Given the description of an element on the screen output the (x, y) to click on. 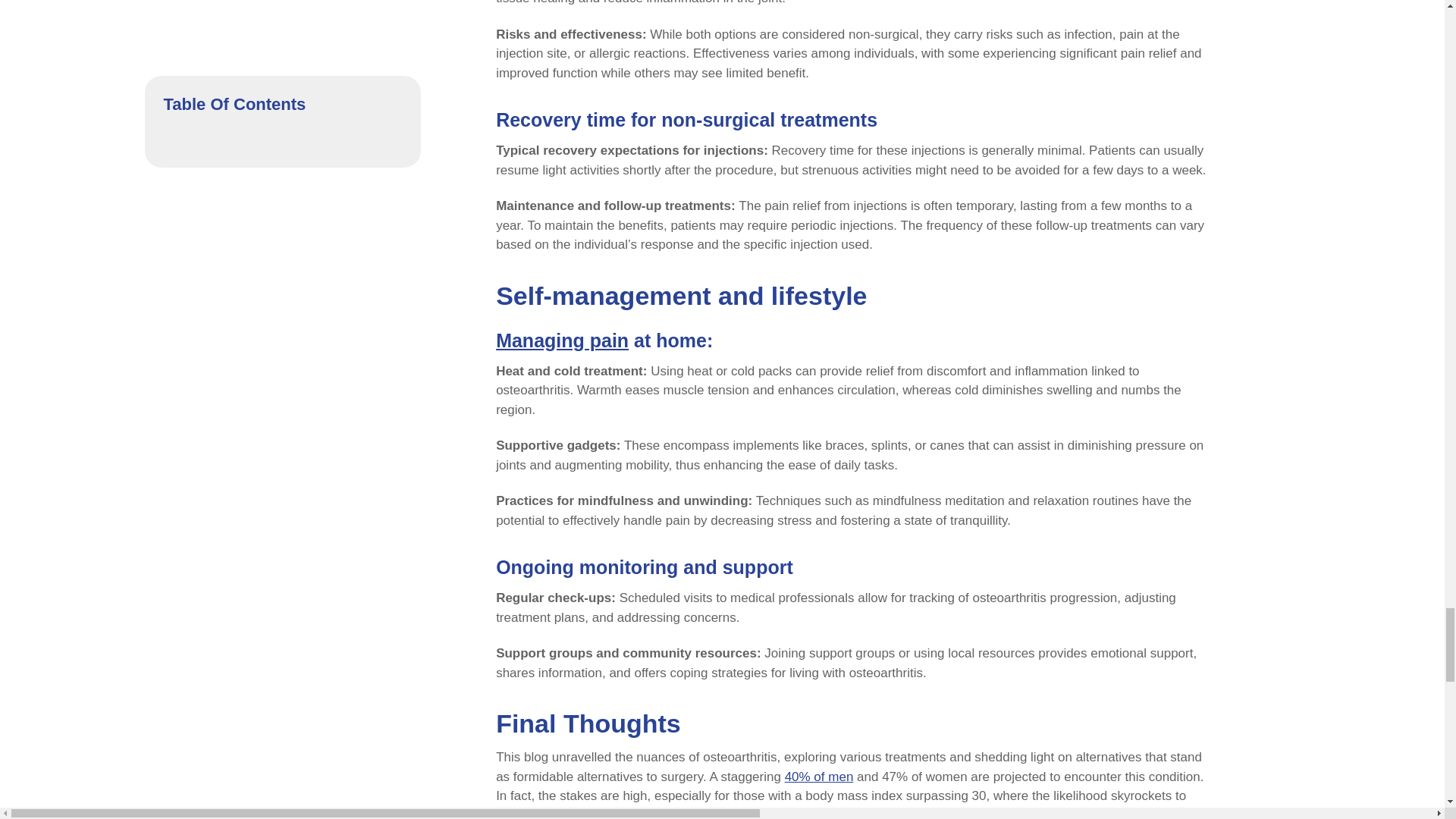
Managing pain (562, 340)
